Given the description of an element on the screen output the (x, y) to click on. 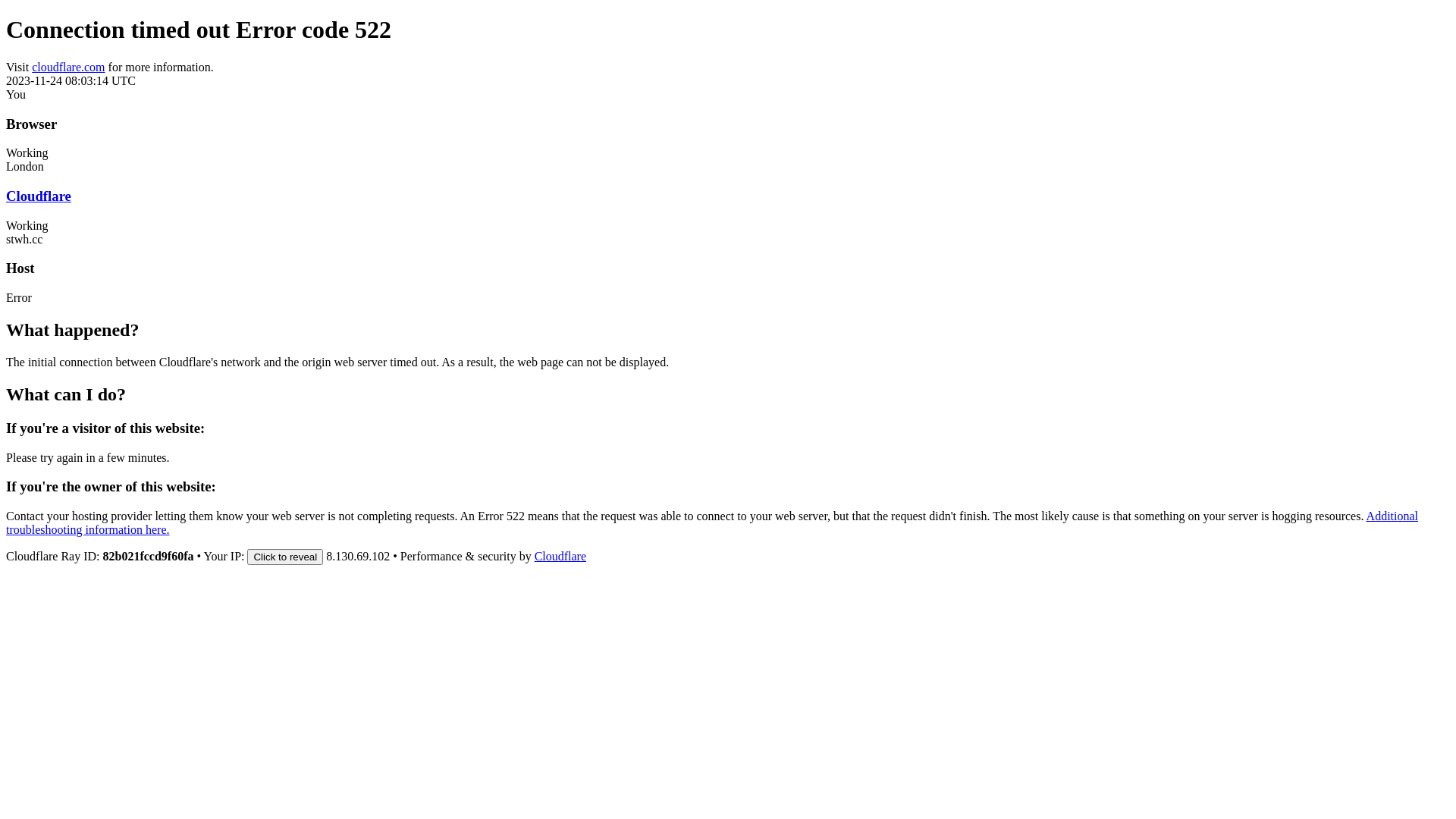
Click to reveal Element type: text (285, 556)
Cloudflare Element type: text (560, 555)
cloudflare.com Element type: text (67, 66)
Additional troubleshooting information here. Element type: text (712, 522)
Cloudflare Element type: text (38, 195)
